Given the description of an element on the screen output the (x, y) to click on. 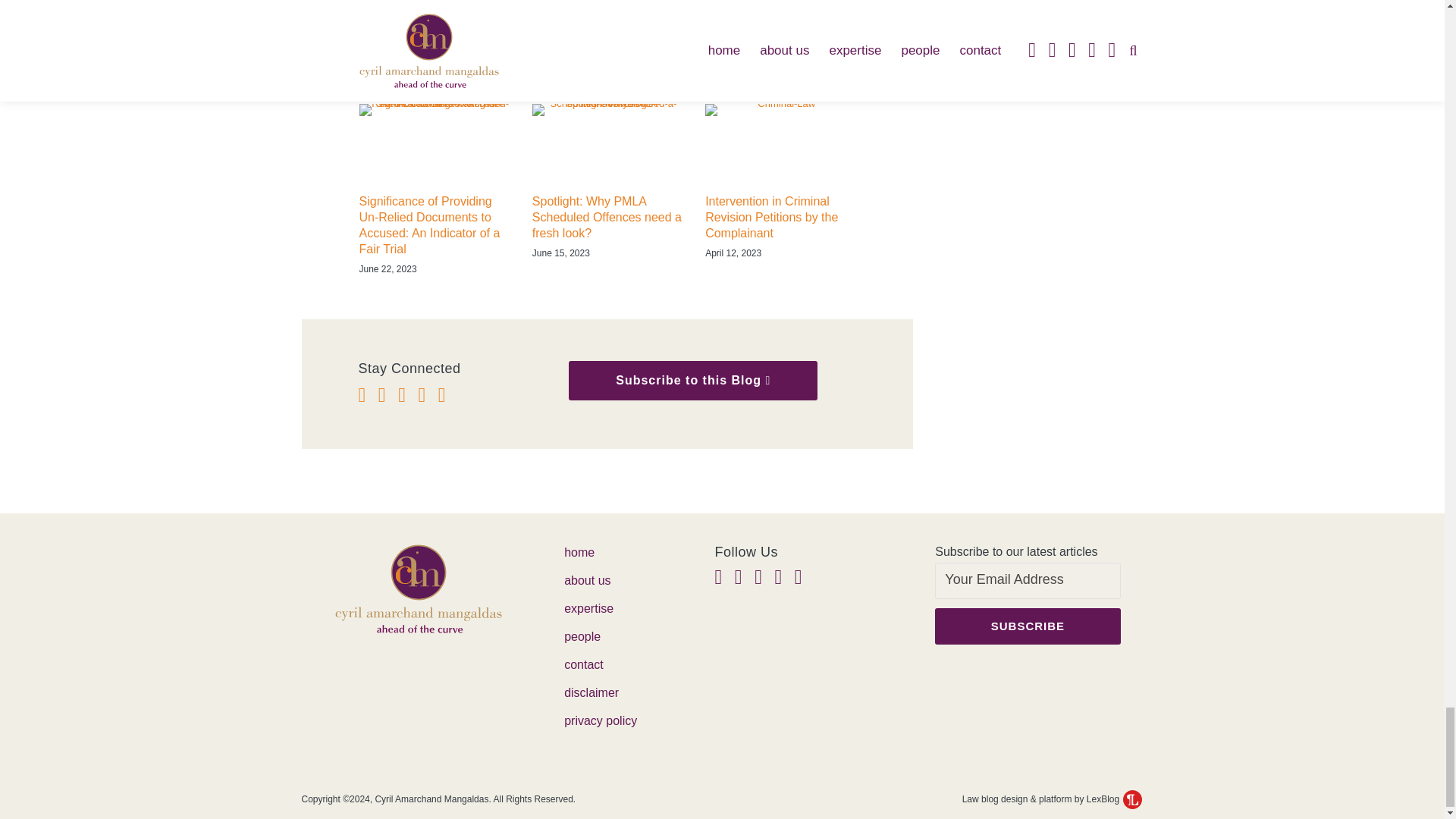
Subscribe (1026, 626)
LexBlog Logo (1131, 799)
